Given the description of an element on the screen output the (x, y) to click on. 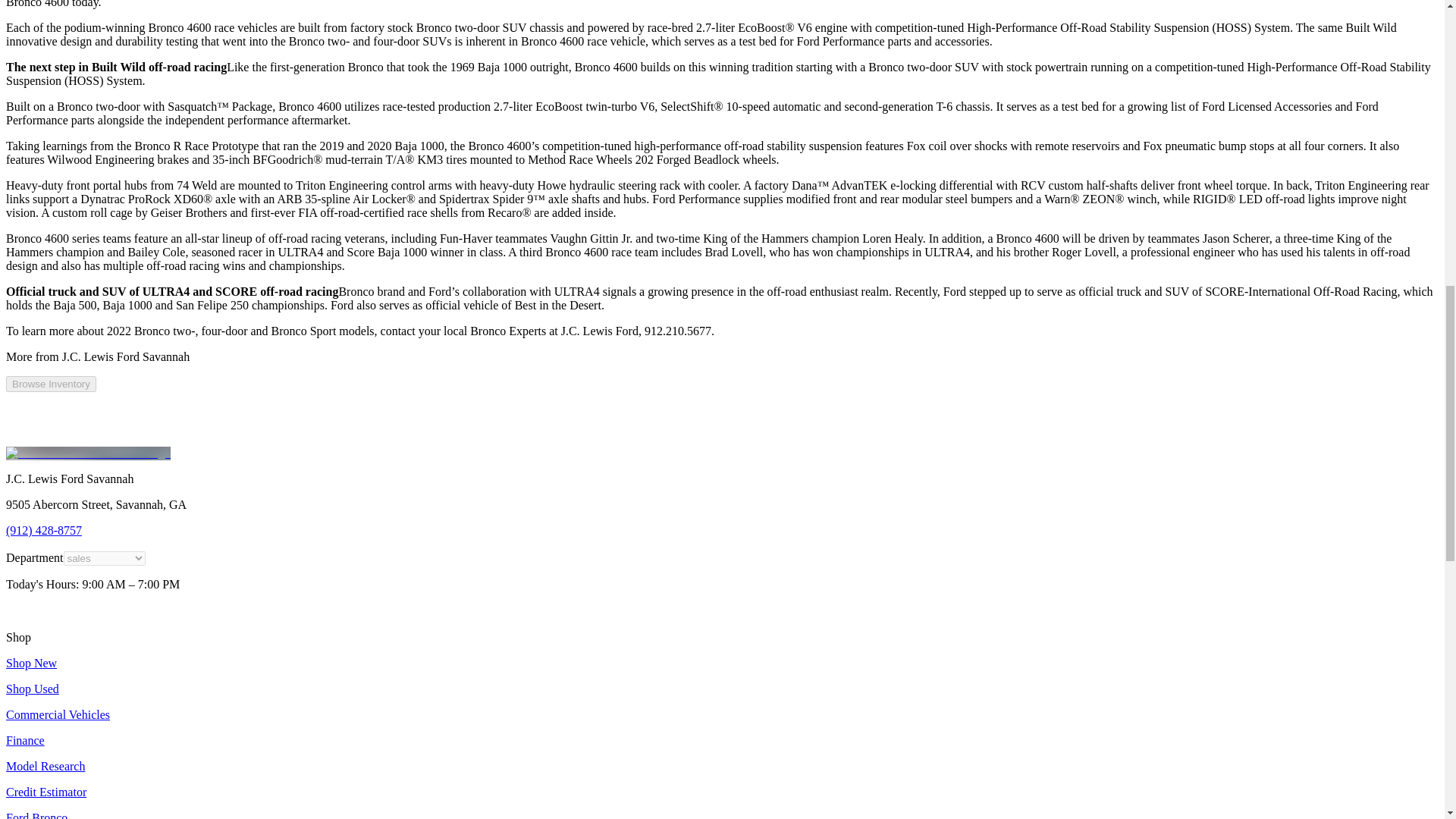
Browse Inventory (50, 382)
Browse Inventory (50, 383)
